Given the description of an element on the screen output the (x, y) to click on. 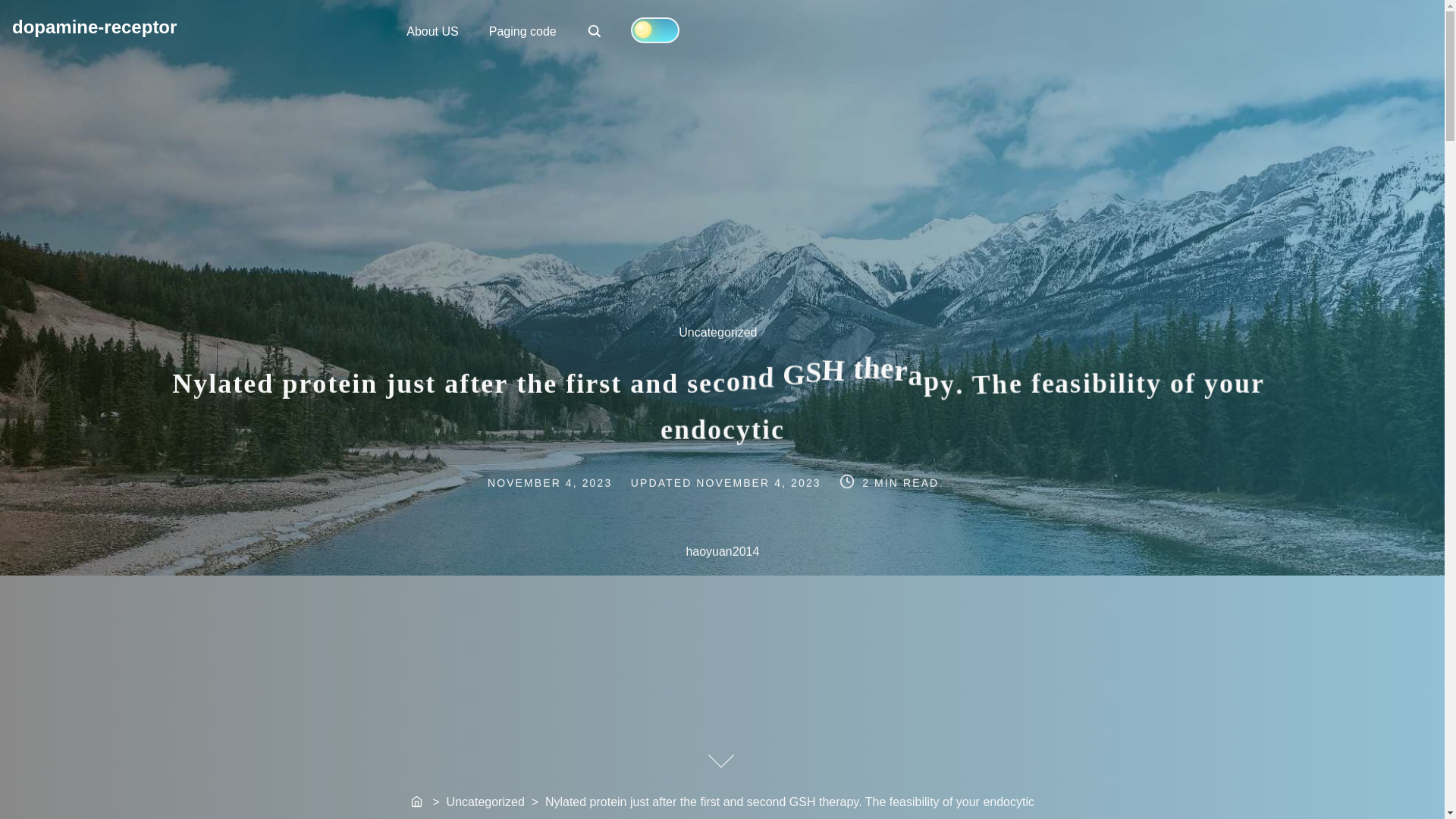
Uncategorized (724, 341)
NOVEMBER 4, 2023 (759, 480)
Search (596, 31)
Paging code (594, 30)
NOVEMBER 4, 2023 (523, 30)
Home (566, 480)
About US (417, 802)
dopamine-receptor (432, 30)
